Given the description of an element on the screen output the (x, y) to click on. 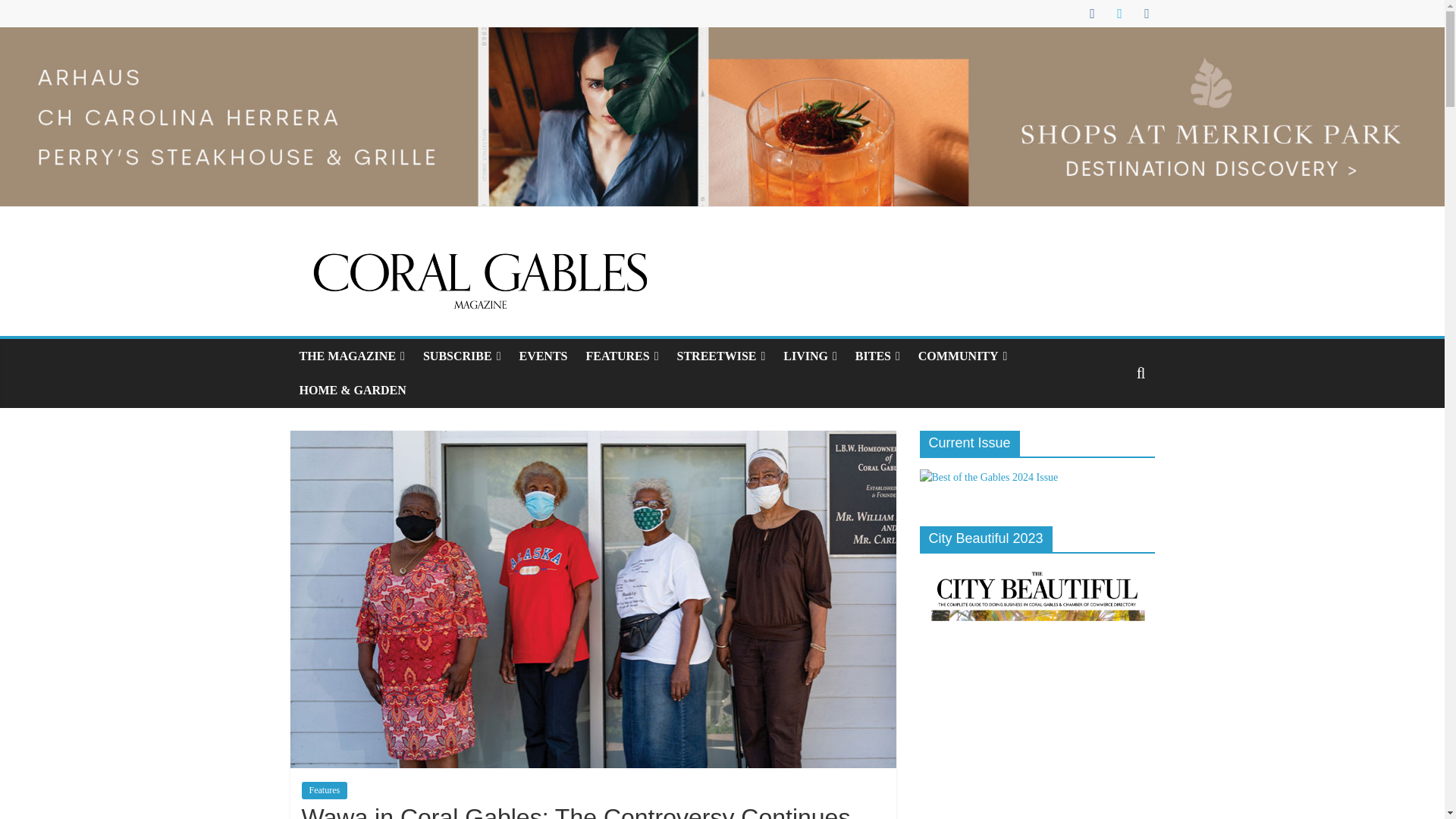
SUBSCRIBE (462, 356)
THE MAGAZINE (351, 356)
BITES (876, 356)
EVENTS (542, 356)
STREETWISE (721, 356)
COMMUNITY (962, 356)
Current Issue (988, 477)
FEATURES (621, 356)
LIVING (809, 356)
